Given the description of an element on the screen output the (x, y) to click on. 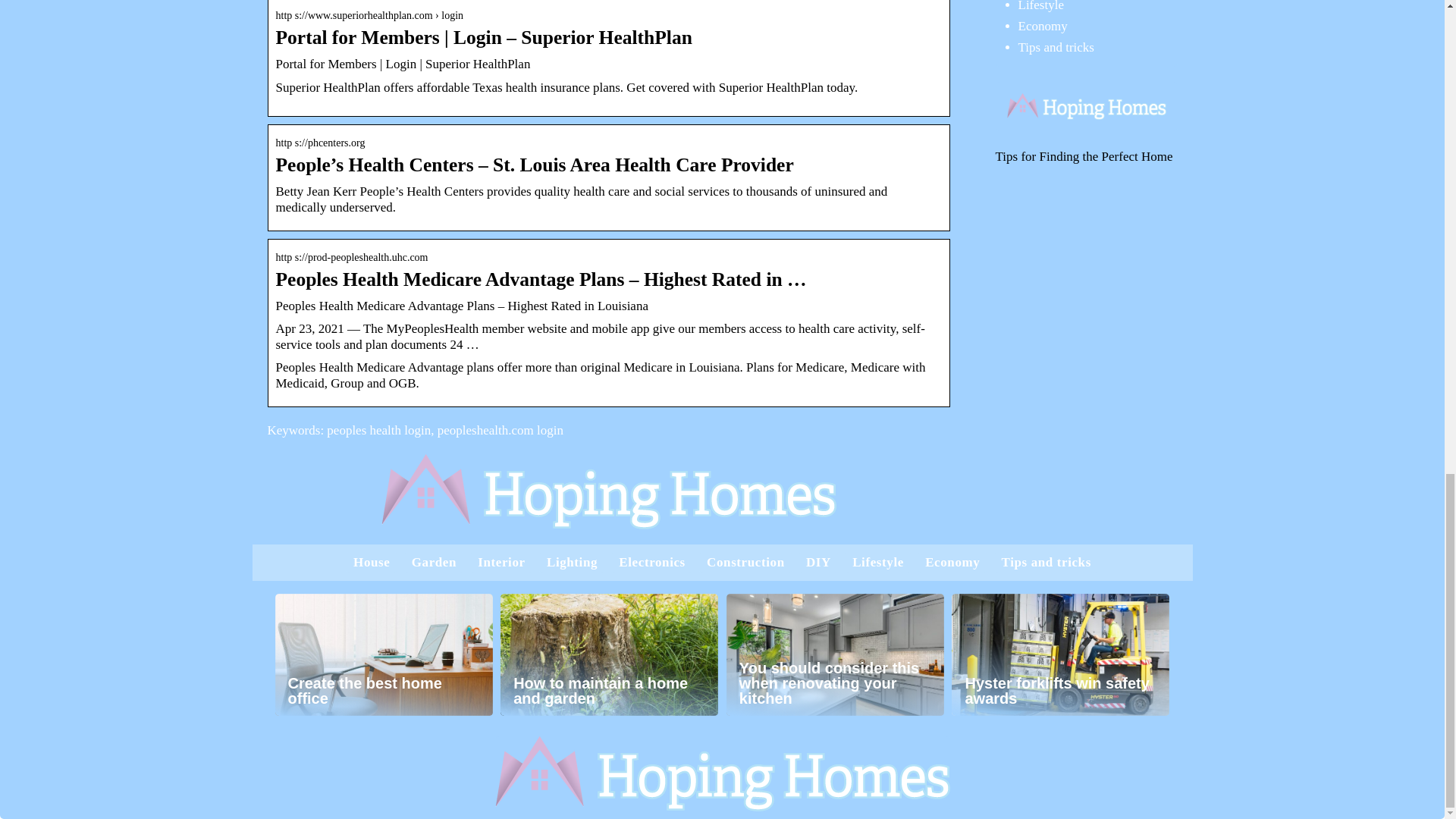
Interior (500, 562)
Construction (745, 562)
Tips and tricks (1055, 47)
Electronics (651, 562)
Lifestyle (1039, 6)
Tips for Finding the Perfect Home (1083, 156)
Economy (1042, 25)
Garden (434, 562)
House (371, 562)
Lighting (571, 562)
